Given the description of an element on the screen output the (x, y) to click on. 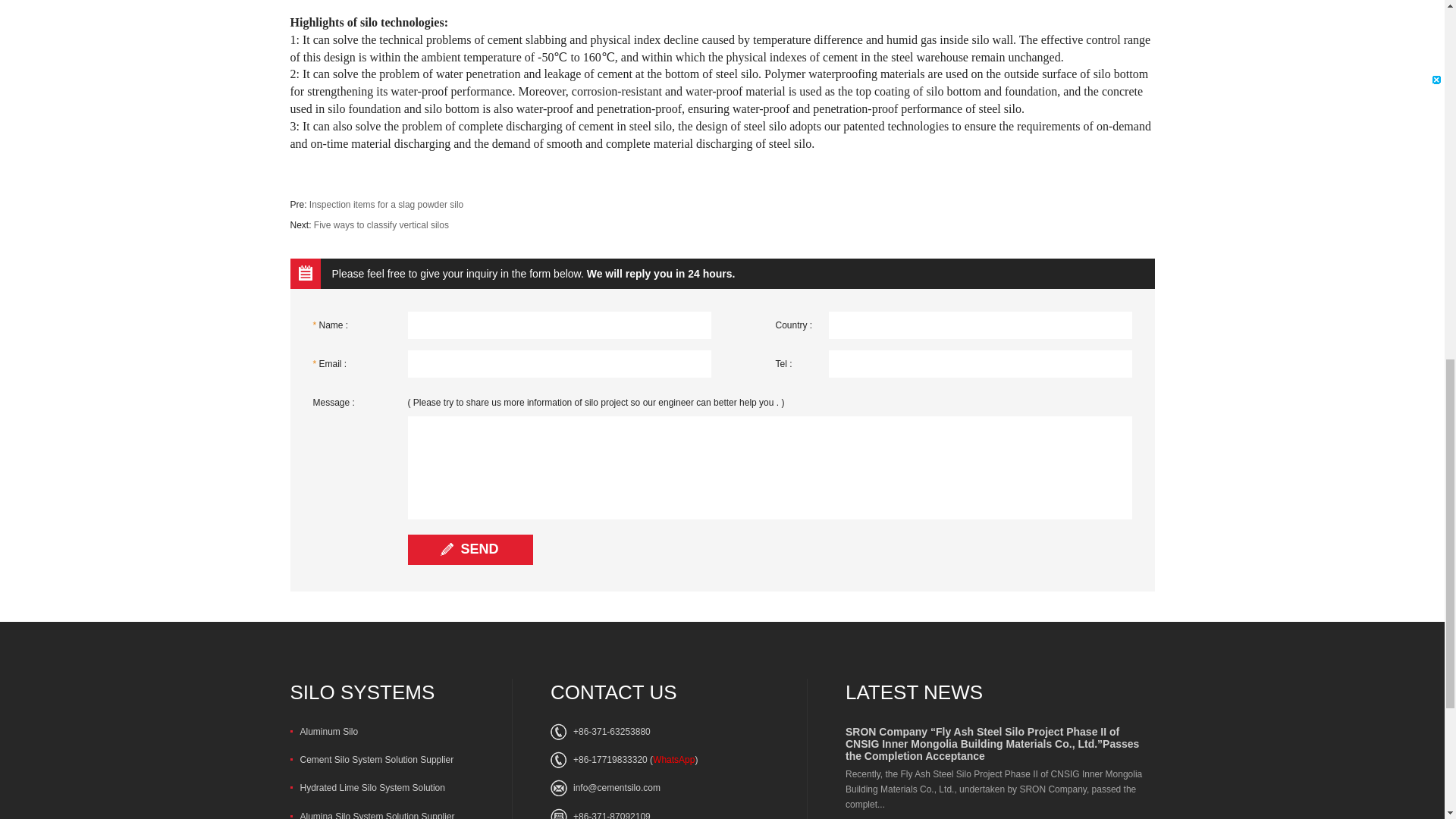
SEND (469, 549)
